Given the description of an element on the screen output the (x, y) to click on. 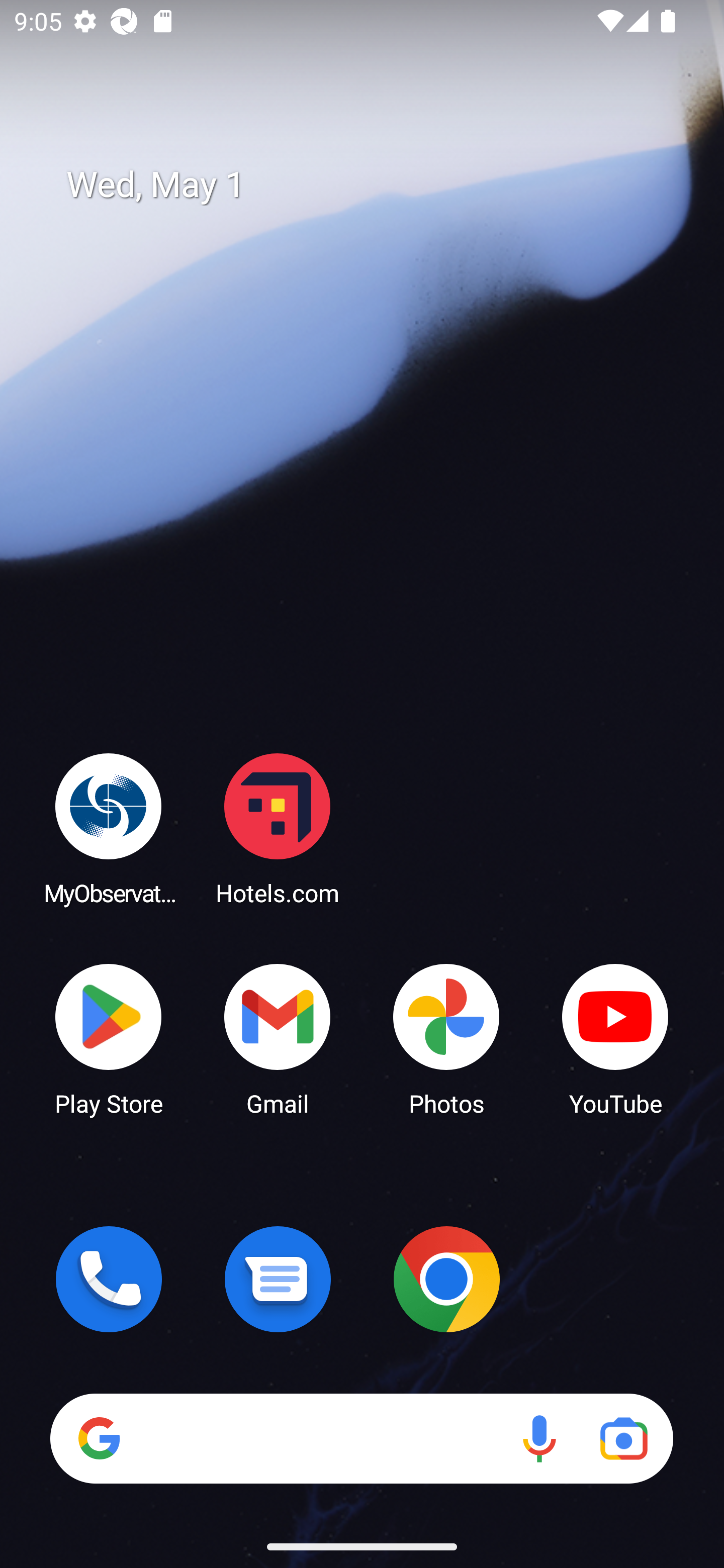
Wed, May 1 (375, 184)
MyObservatory (108, 828)
Hotels.com (277, 828)
Play Store (108, 1038)
Gmail (277, 1038)
Photos (445, 1038)
YouTube (615, 1038)
Phone (108, 1279)
Messages (277, 1279)
Chrome (446, 1279)
Search Voice search Google Lens (361, 1438)
Voice search (539, 1438)
Google Lens (623, 1438)
